Given the description of an element on the screen output the (x, y) to click on. 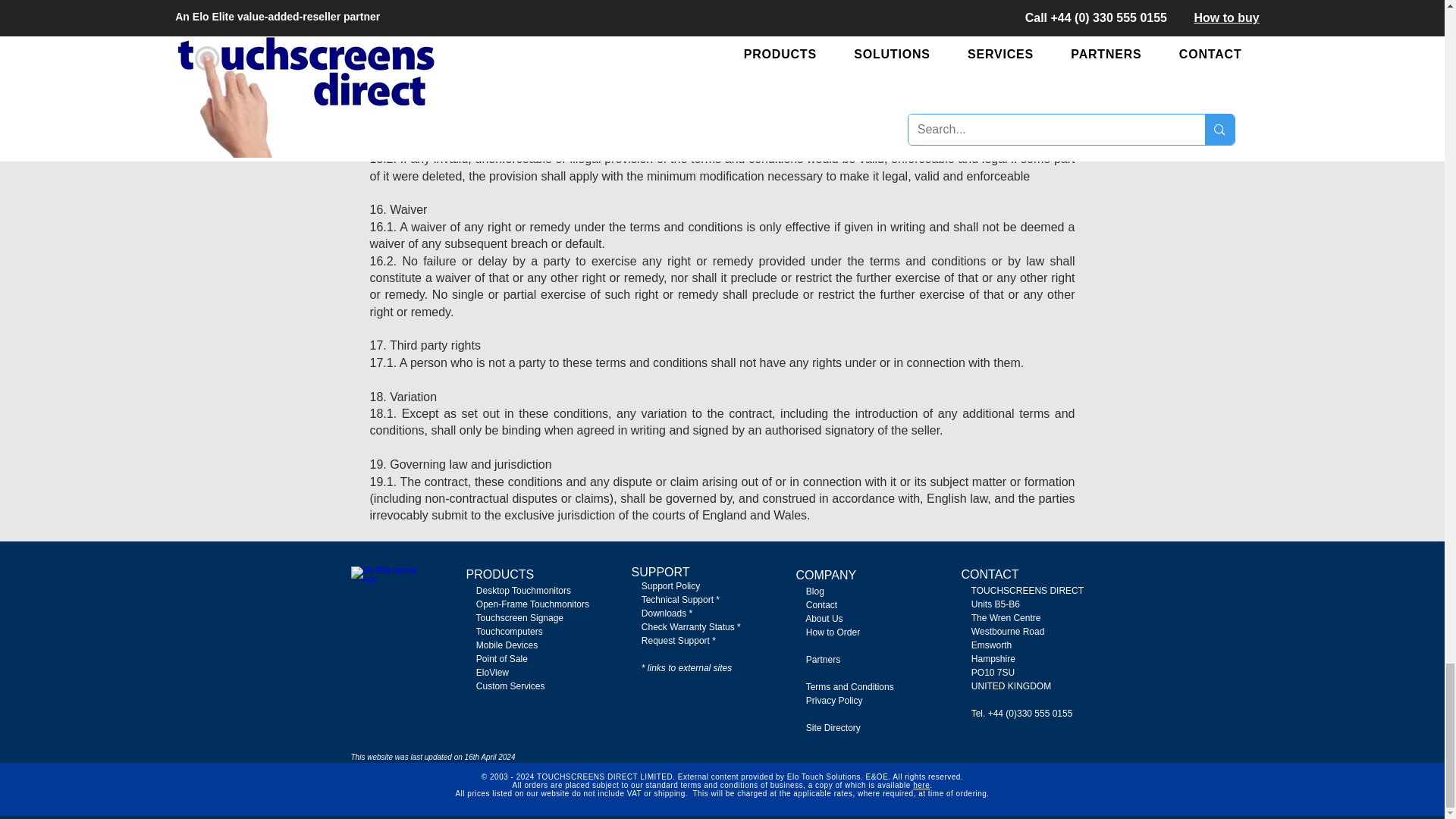
    Custom Services (504, 685)
Touchcomputers (509, 631)
Mobile Devices (506, 644)
    Open-Frame Touchmonitors (527, 603)
EloView (492, 672)
    Touchscreen Signage (514, 617)
Point of Sale (501, 658)
PRODUC (491, 574)
TS (526, 574)
    Desktop Touchmonitors (517, 590)
    Support Policy (665, 585)
SUPPORT (659, 571)
